Given the description of an element on the screen output the (x, y) to click on. 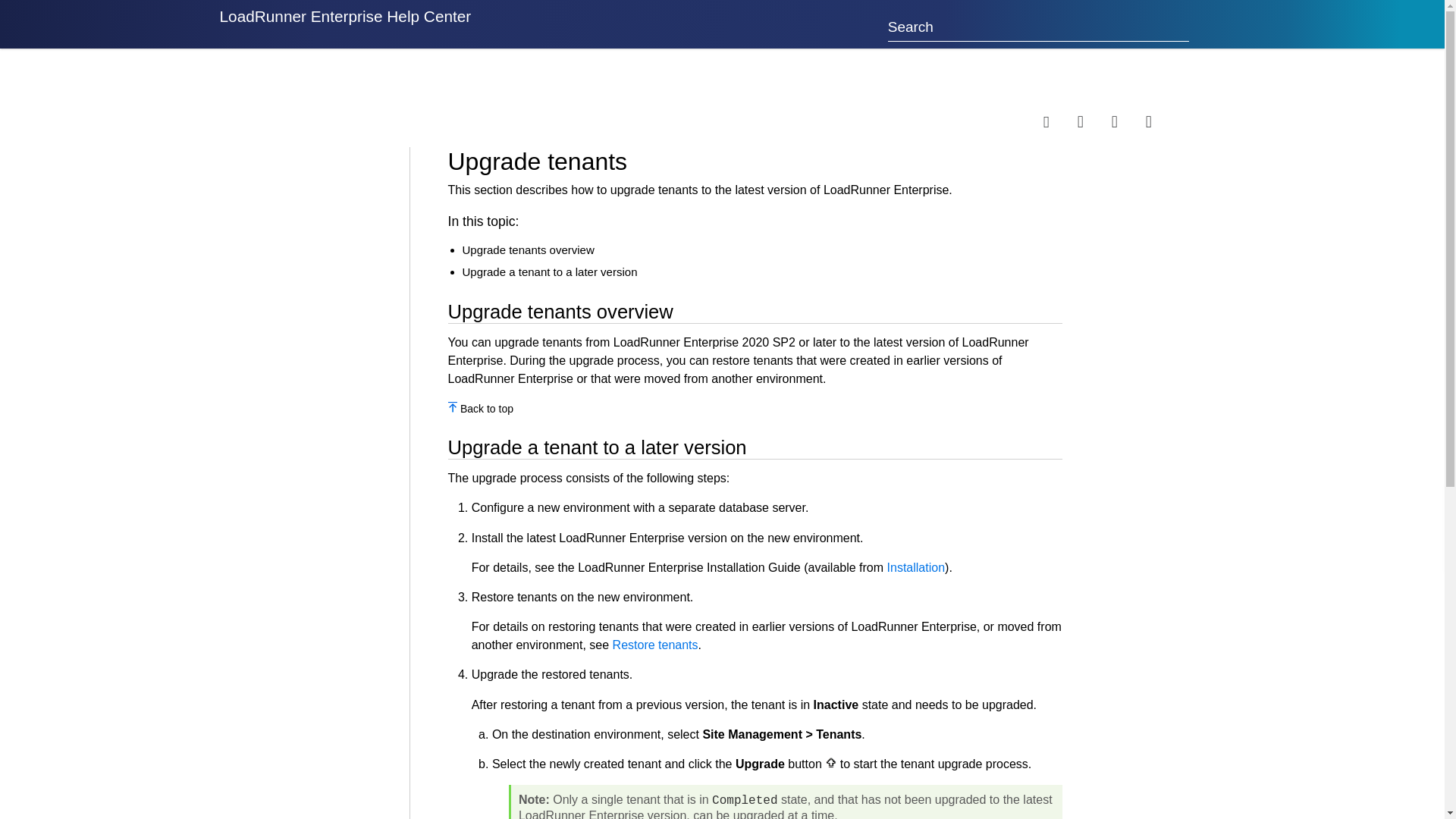
Restore tenants (655, 644)
Installation (915, 567)
Version: 24.1-24.3 (266, 83)
LoadRunner Enterprise Help Center (345, 24)
Share page (1060, 121)
Upgrade tenants overview (528, 249)
Remove all search highlights (1128, 121)
Upgrade a tenant to a later version (550, 271)
Back to top (486, 408)
Expand all dropdowns (1094, 121)
